Given the description of an element on the screen output the (x, y) to click on. 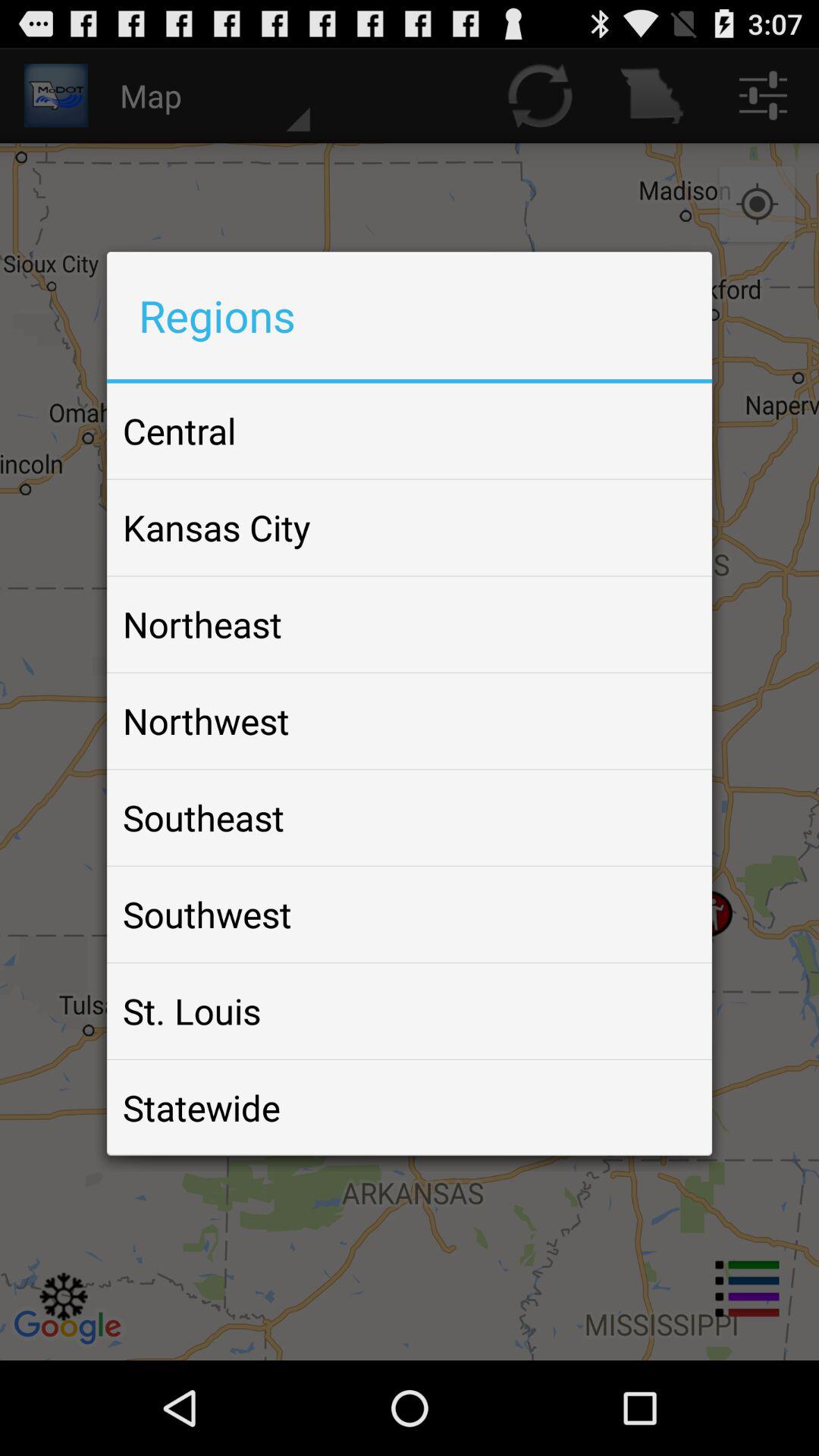
scroll until statewide item (201, 1107)
